Given the description of an element on the screen output the (x, y) to click on. 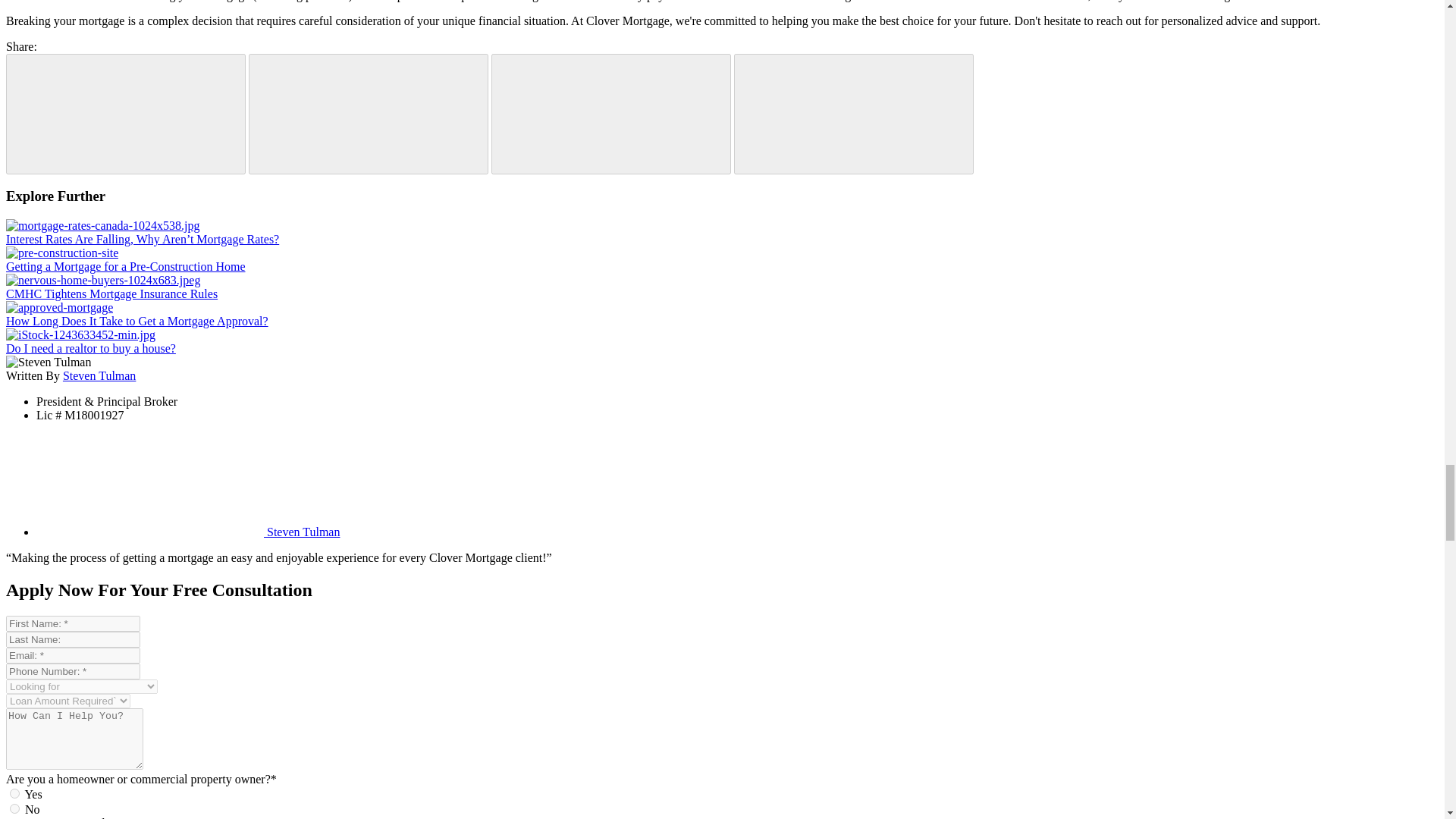
No (15, 808)
Yes (15, 793)
